Given the description of an element on the screen output the (x, y) to click on. 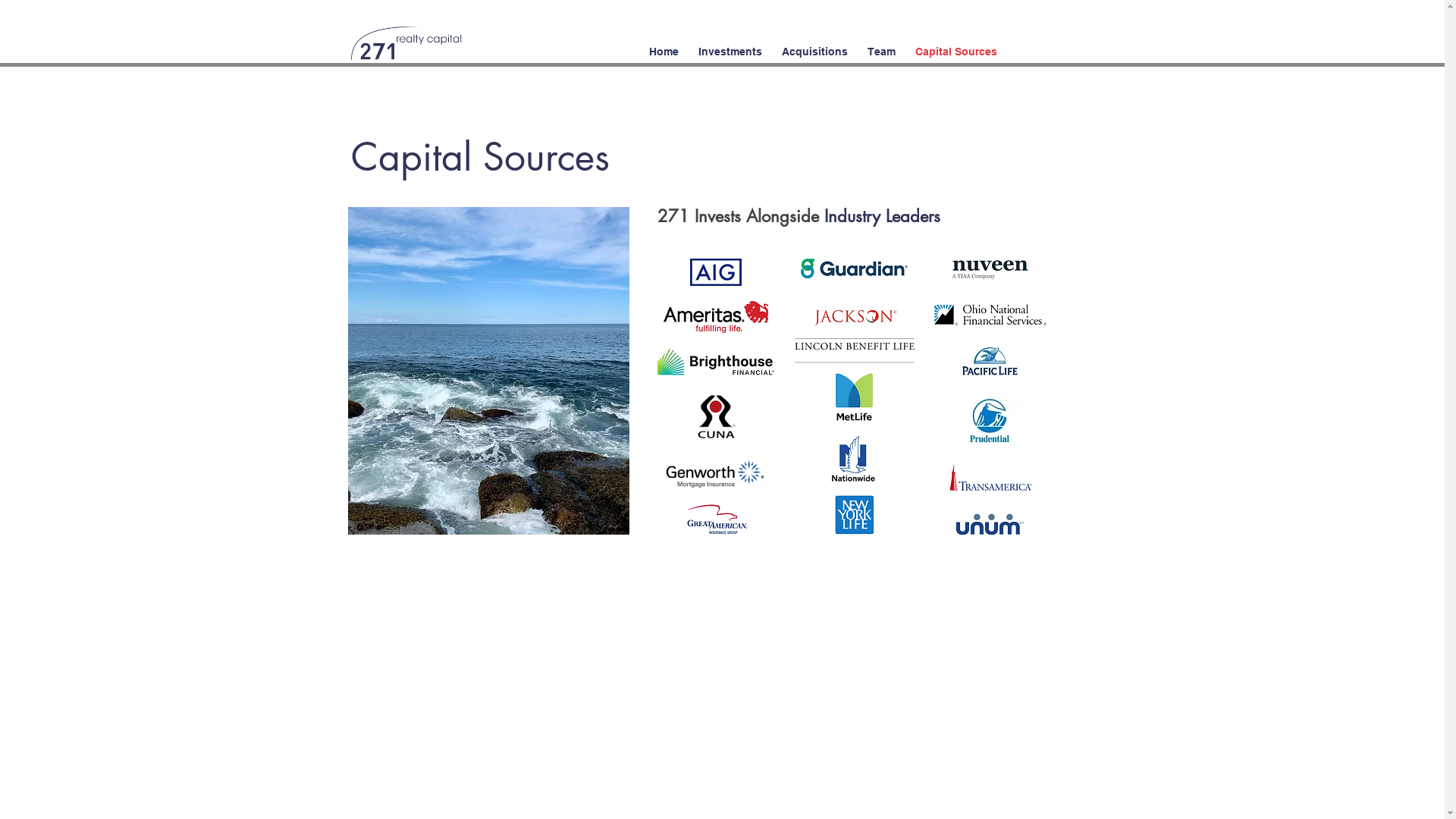
Investments Element type: text (729, 44)
Capital Sources Element type: text (956, 44)
Team Element type: text (880, 44)
Acquisitions Element type: text (814, 44)
Home Element type: text (662, 44)
